Given the description of an element on the screen output the (x, y) to click on. 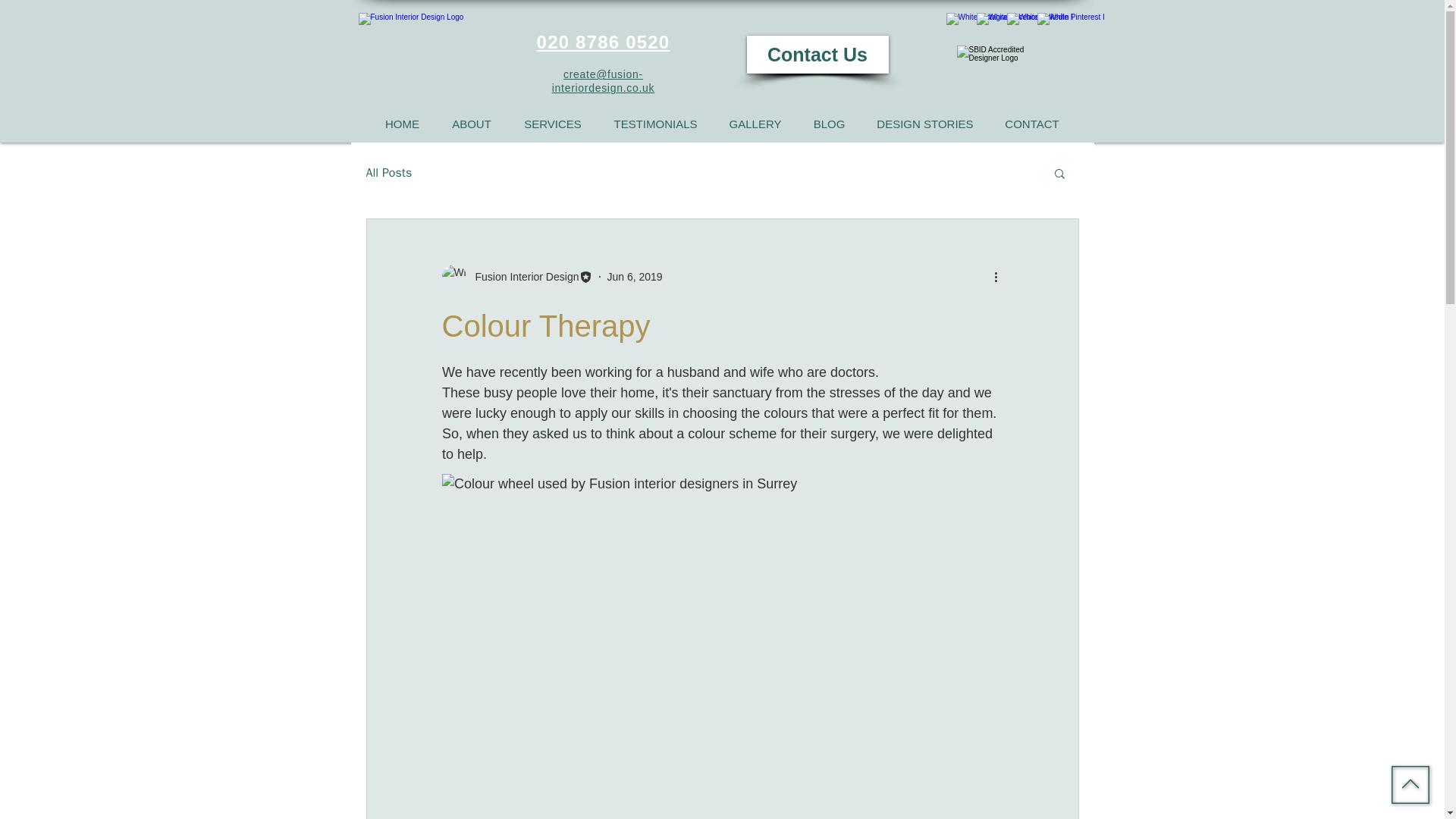
Contact Us (816, 54)
All Posts (388, 172)
TESTIMONIALS (654, 124)
Jun 6, 2019 (634, 275)
CONTACT (1031, 124)
ABOUT (470, 124)
Fusion Interior Design (521, 276)
DESIGN STORIES (925, 124)
SERVICES (553, 124)
GALLERY (754, 124)
